Given the description of an element on the screen output the (x, y) to click on. 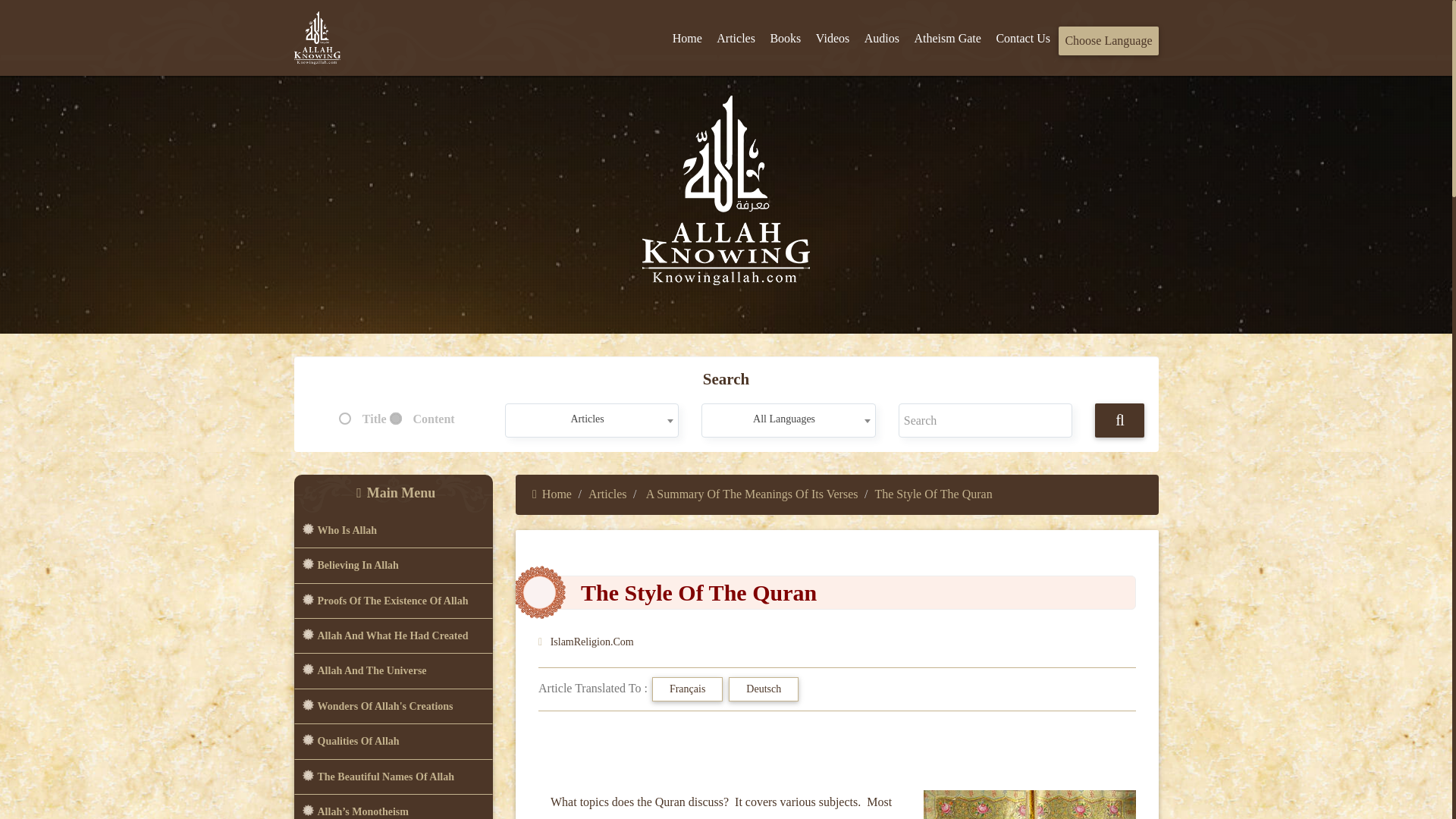
Atheism Gate (947, 38)
Choose Language (1107, 40)
Articles (591, 419)
All Languages (788, 419)
Audios (882, 38)
Contact Us (1023, 38)
Videos (832, 38)
Articles (735, 38)
Books (784, 38)
Home (686, 38)
